Given the description of an element on the screen output the (x, y) to click on. 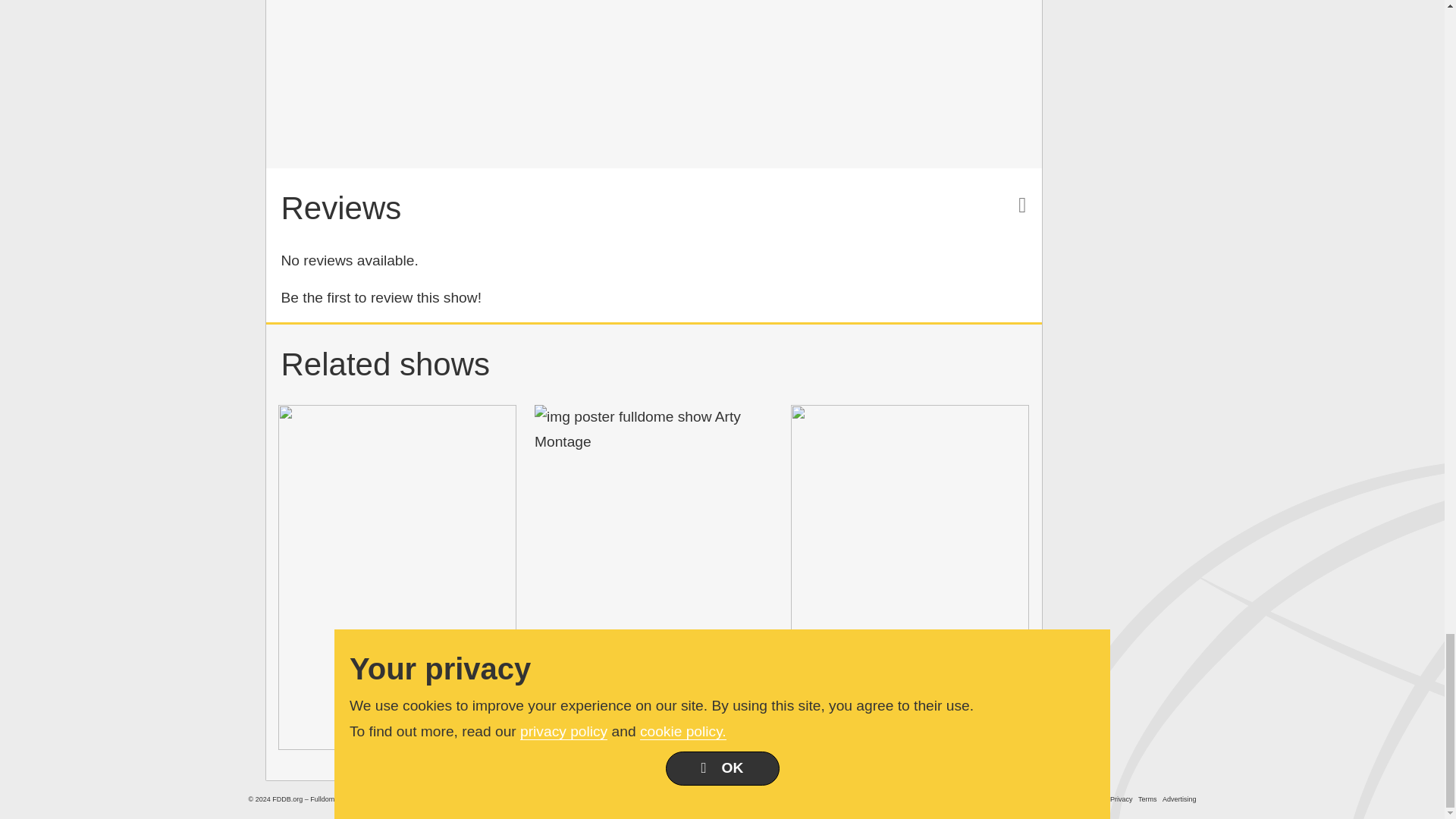
Arty Montage (653, 429)
